Given the description of an element on the screen output the (x, y) to click on. 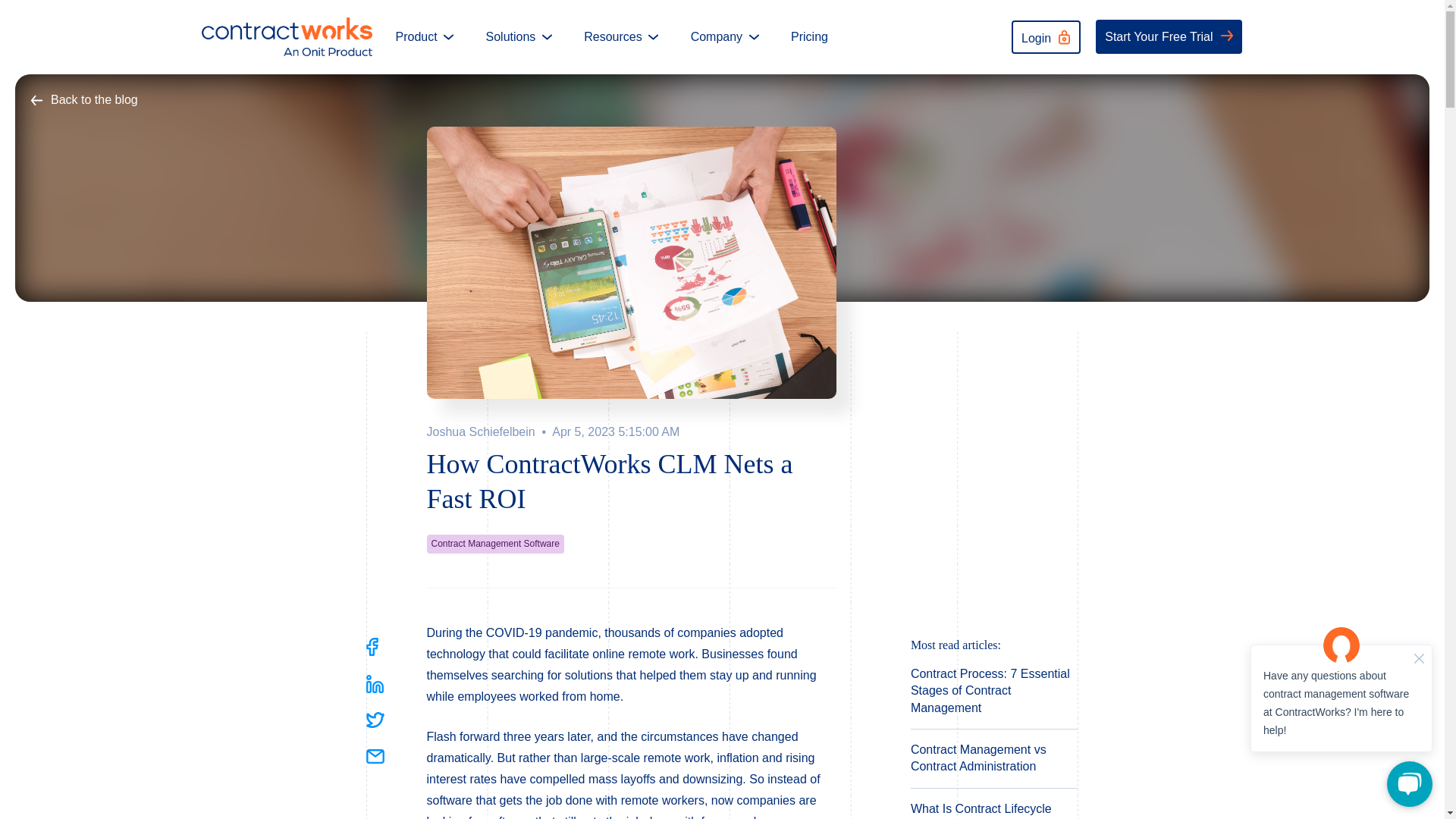
Product (423, 36)
Login (1045, 37)
Company (725, 36)
Start Your Free Trial (1168, 36)
Resources (620, 36)
Pricing (809, 36)
Solutions (518, 36)
